Given the description of an element on the screen output the (x, y) to click on. 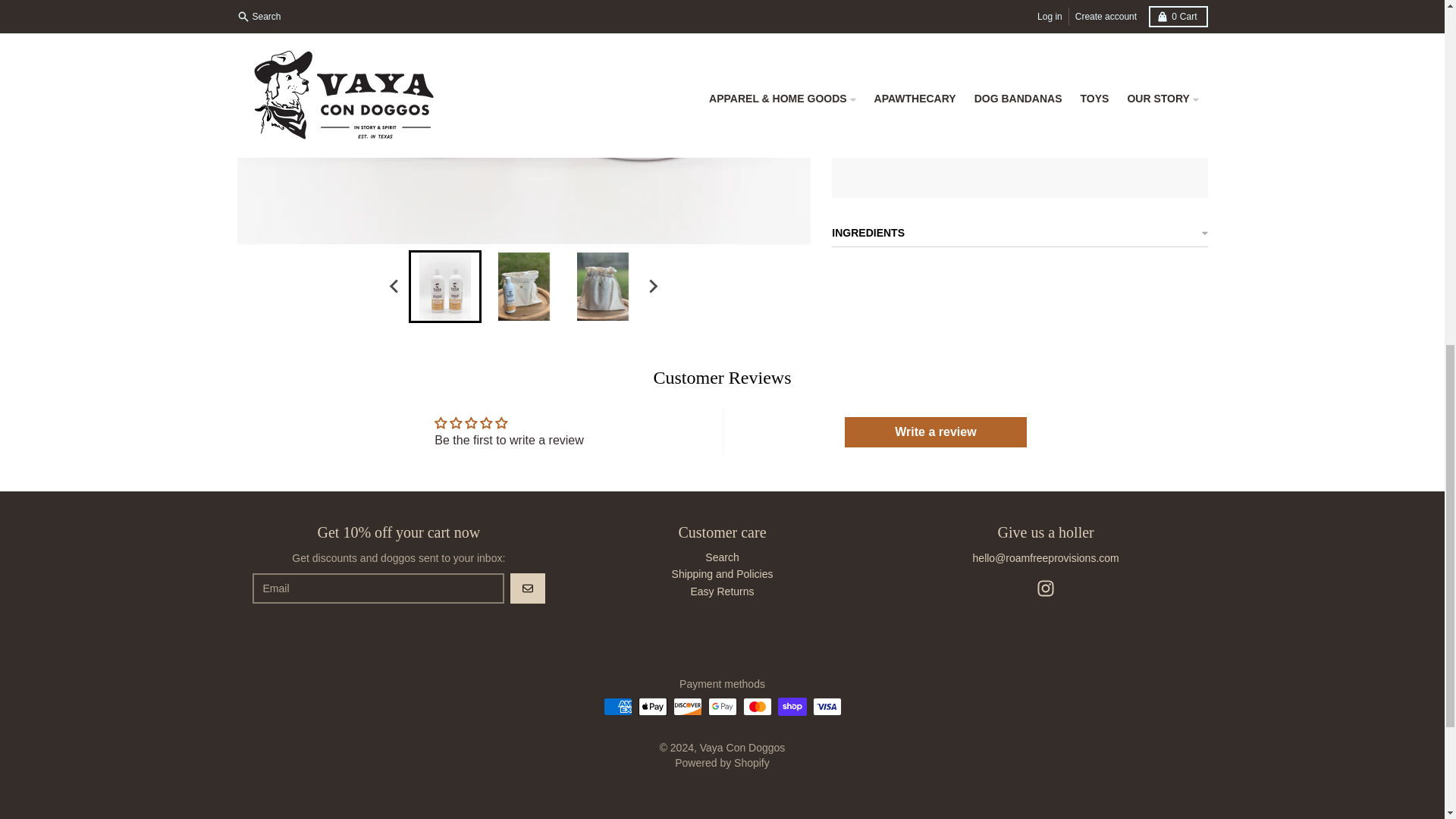
Instagram - Vaya Con Doggos (1045, 588)
